Given the description of an element on the screen output the (x, y) to click on. 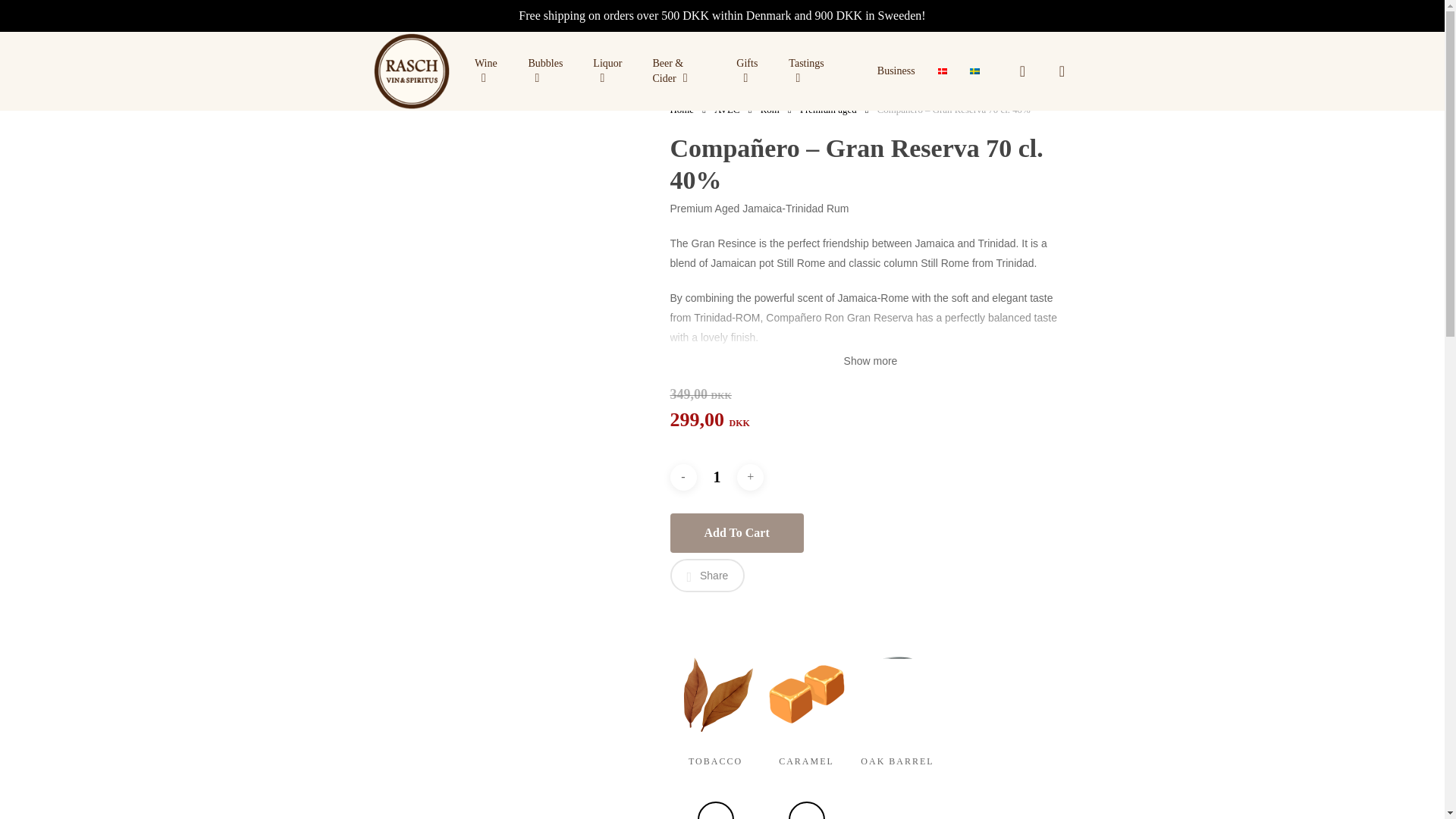
Bubbles (548, 71)
Wine (489, 71)
1 (715, 477)
- (683, 477)
